Given the description of an element on the screen output the (x, y) to click on. 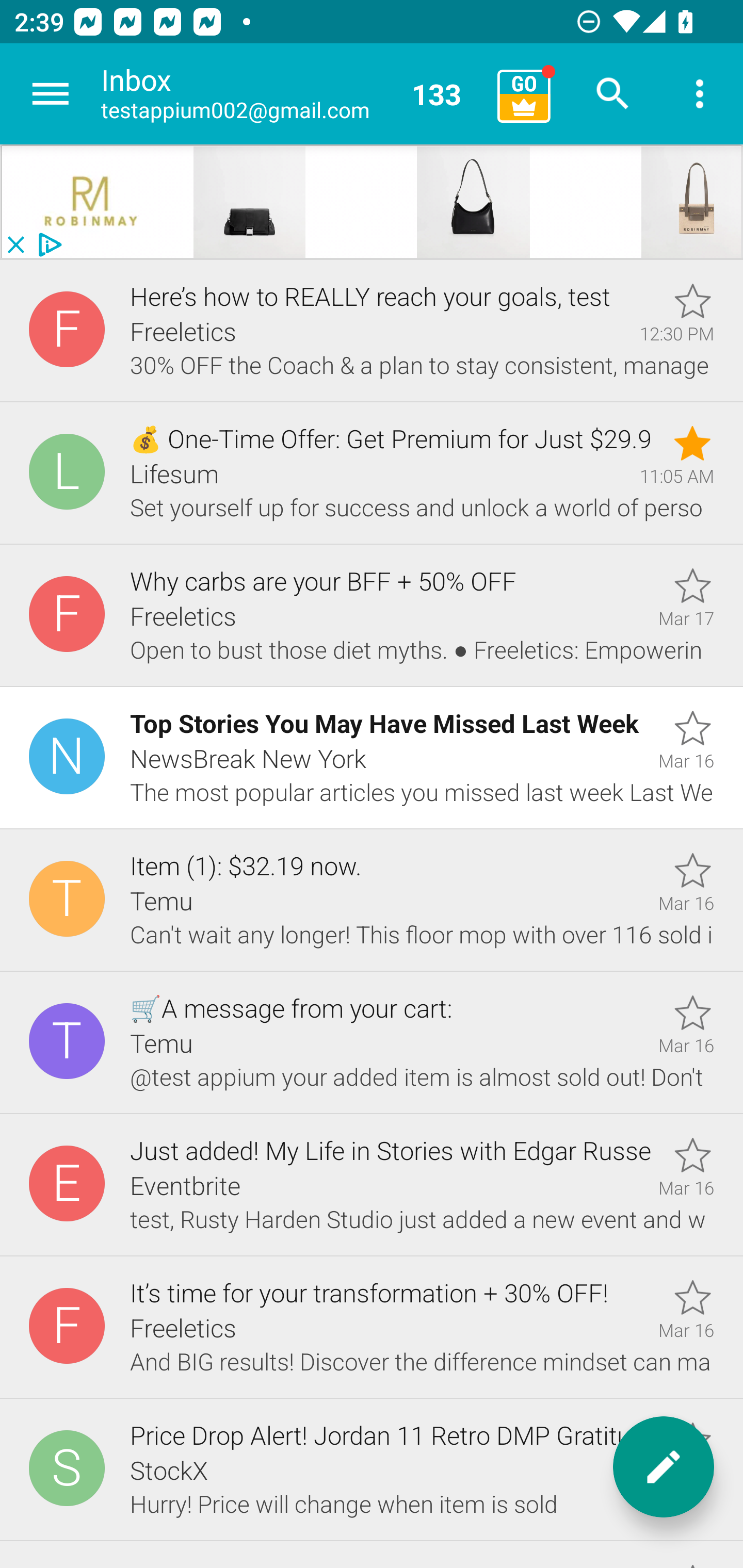
Navigate up (50, 93)
Inbox testappium002@gmail.com 133 (291, 93)
Search (612, 93)
More options (699, 93)
   (91, 202)
close_button (14, 245)
privacy_small (47, 245)
New message (663, 1466)
